Given the description of an element on the screen output the (x, y) to click on. 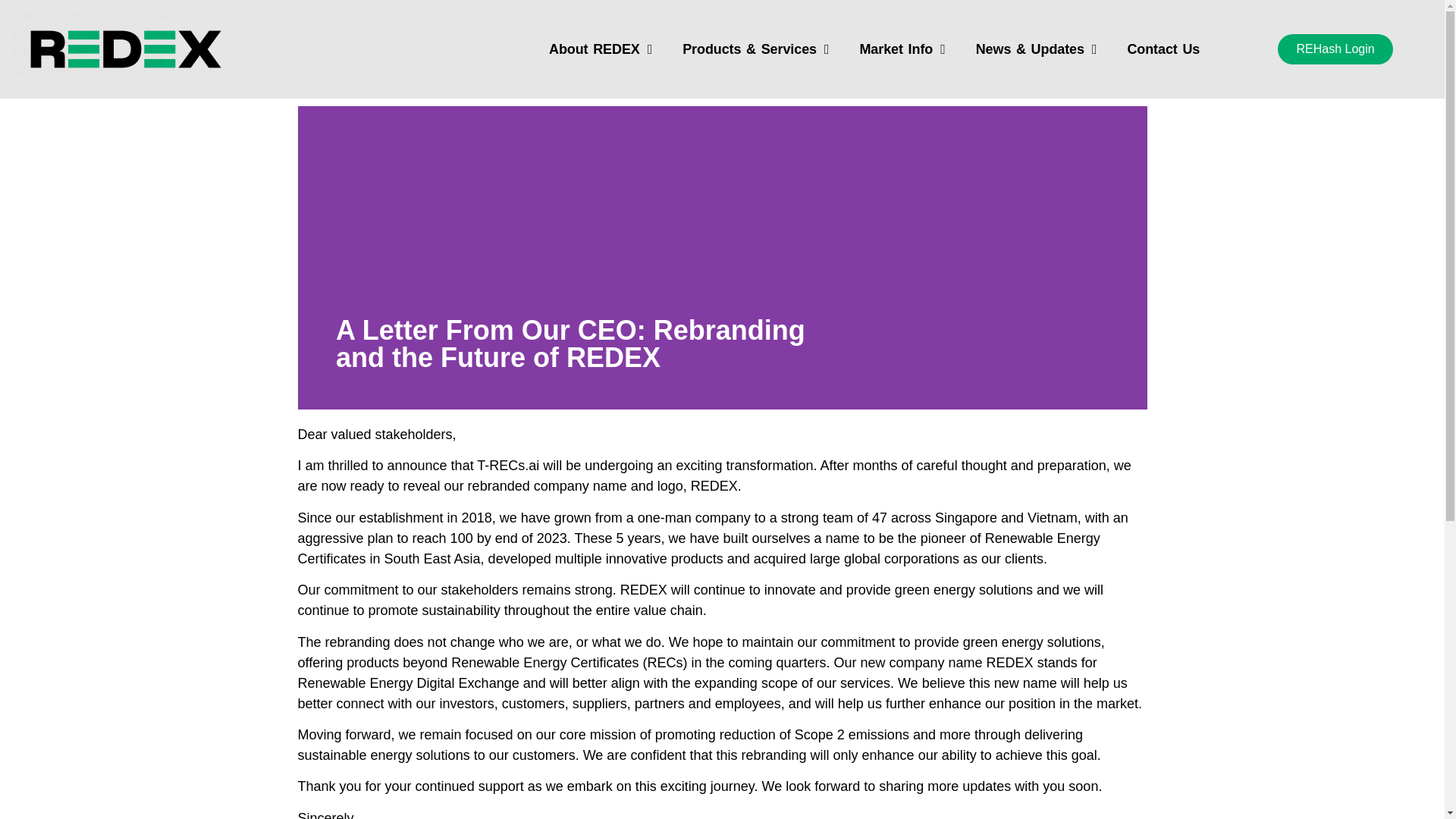
Market Info (901, 49)
About REDEX (600, 49)
Contact Us (1163, 49)
